Given the description of an element on the screen output the (x, y) to click on. 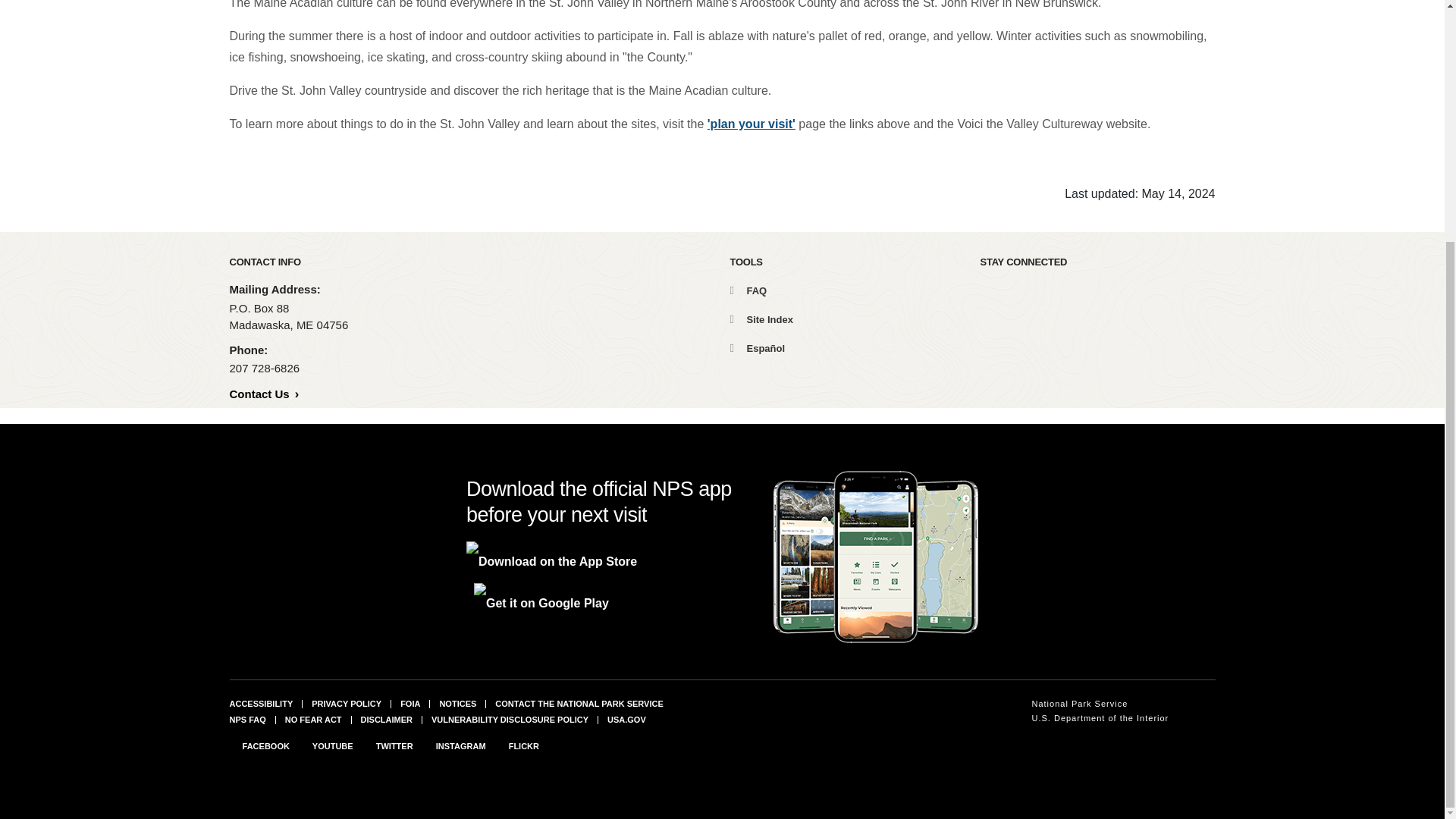
FAQ (748, 290)
U.S. Department of the Interior (1099, 718)
National Park Service frequently asked questions (246, 718)
FOIA (410, 703)
Contact Us (263, 393)
PRIVACY POLICY (346, 703)
Voici the Valley Cultureway website (1051, 123)
ACCESSIBILITY (260, 703)
'plan your visit' (750, 123)
Site Index (760, 319)
